Given the description of an element on the screen output the (x, y) to click on. 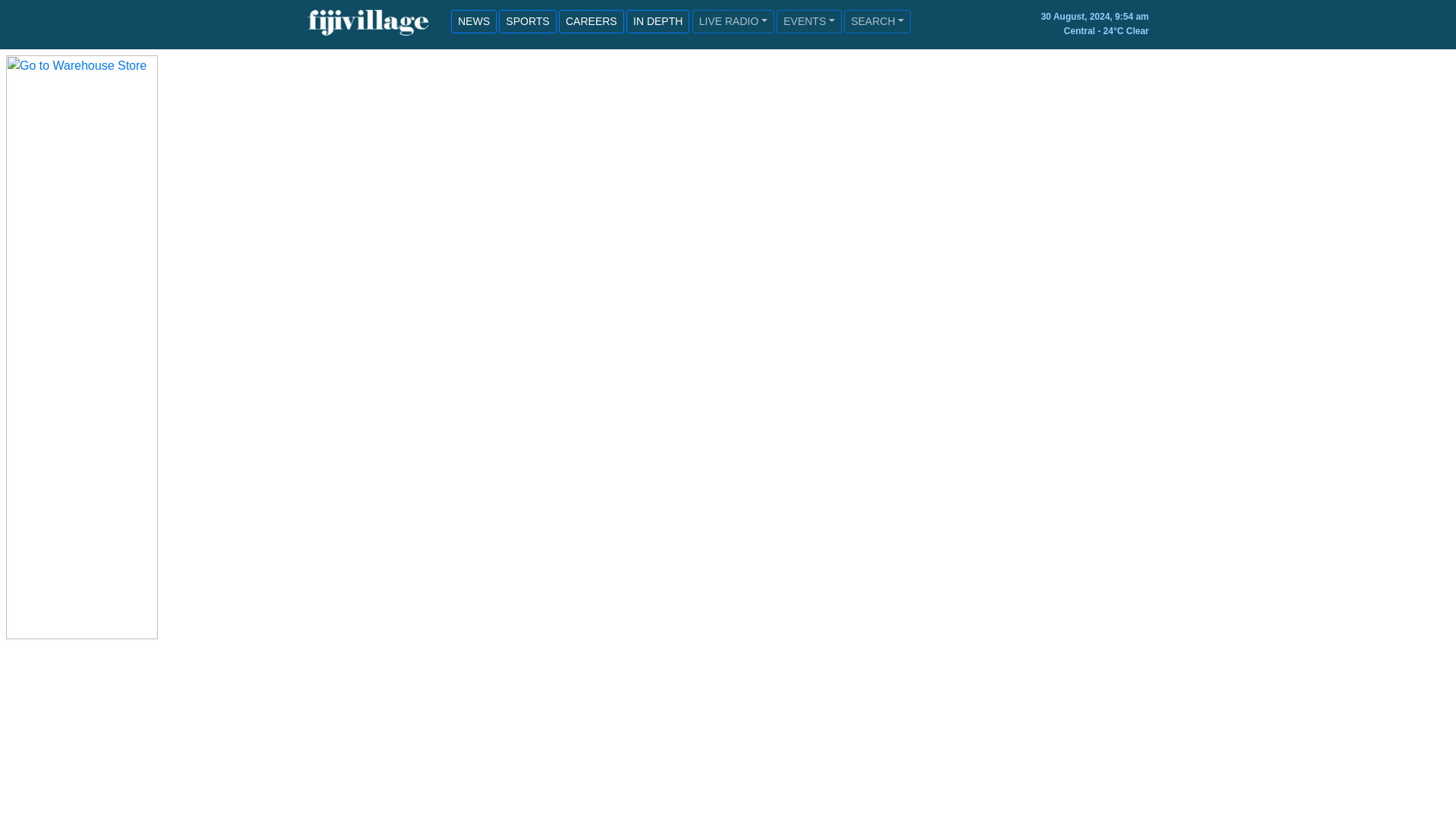
EVENTS (808, 21)
CAREERS (591, 21)
LIVE RADIO (733, 21)
IN DEPTH (657, 21)
NEWS (473, 21)
SPORTS (527, 21)
